Given the description of an element on the screen output the (x, y) to click on. 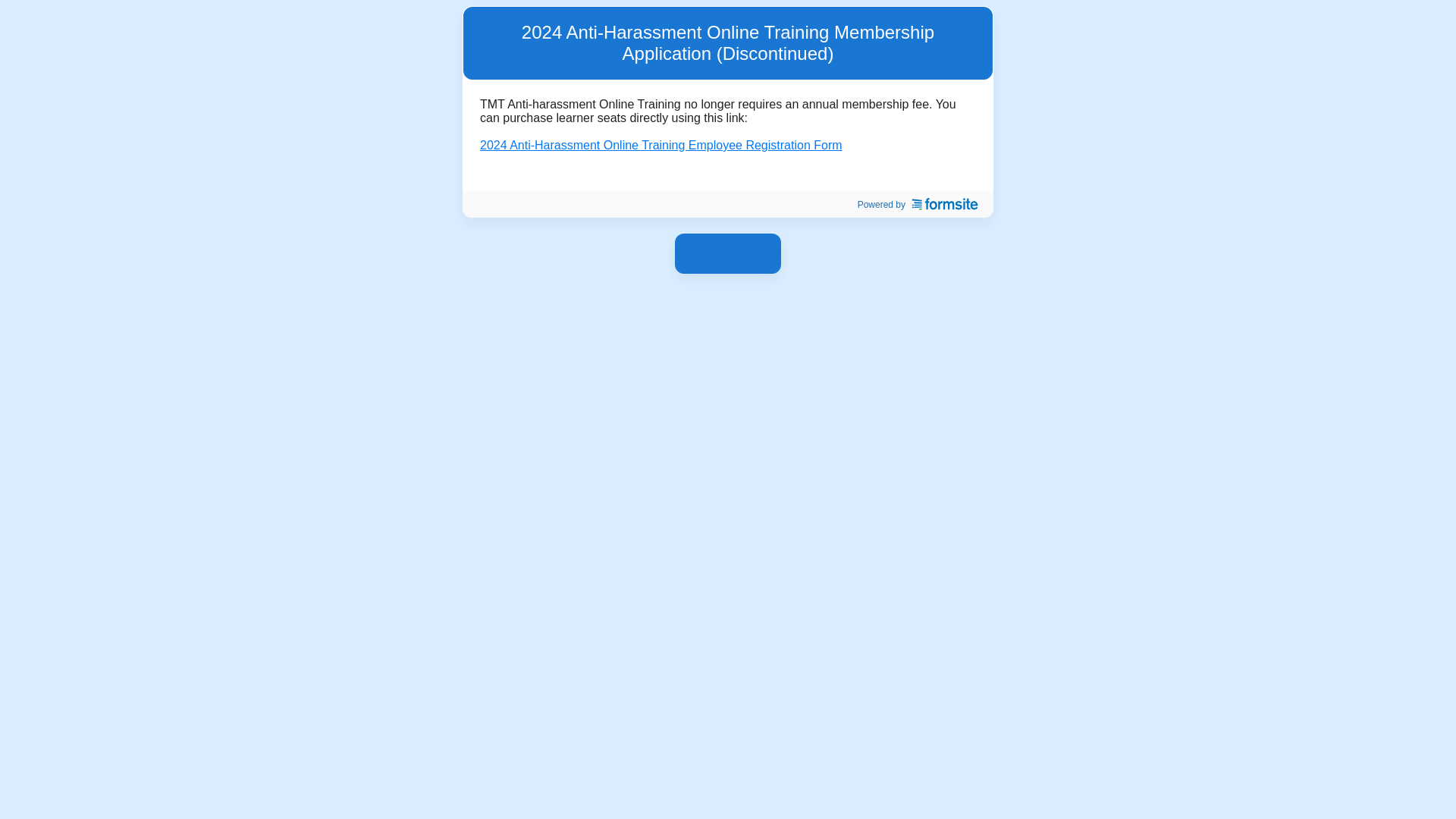
Powered by (913, 204)
